Given the description of an element on the screen output the (x, y) to click on. 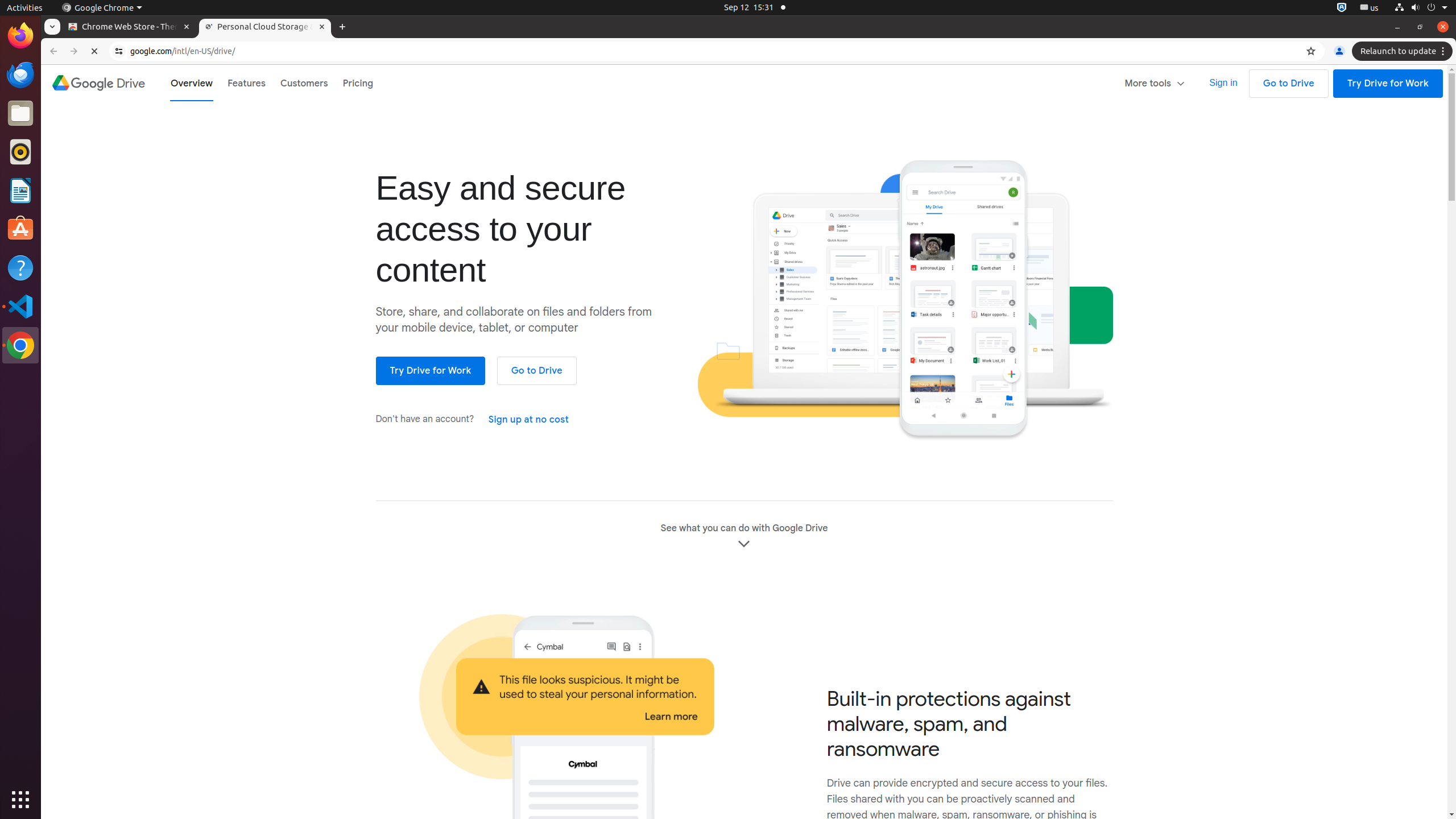
Sign up at no cost Element type: push-button (528, 419)
Google Chrome Element type: push-button (20, 344)
More tools Element type: link (1155, 82)
Visual Studio Code Element type: push-button (20, 306)
System Element type: menu (1420, 7)
